Given the description of an element on the screen output the (x, y) to click on. 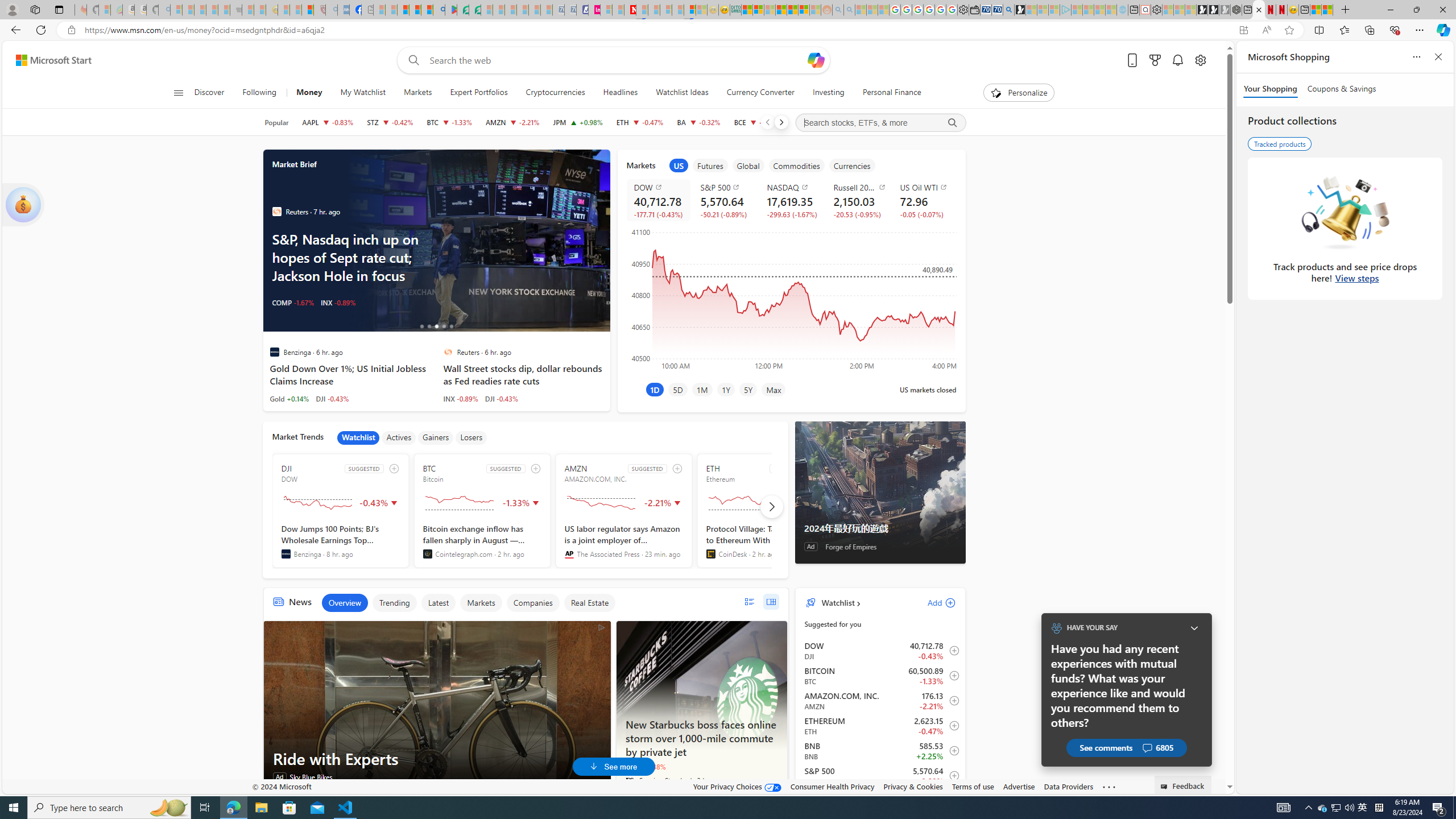
AAPL APPLE INC. decrease 224.53 -1.87 -0.83% (328, 122)
Microsoft Word - consumer-privacy address update 2.2021 (475, 9)
AdChoices (601, 626)
Privacy & Cookies (913, 786)
BTC SUGGESTED Bitcoin (481, 510)
Next (780, 122)
Utah sues federal government - Search - Sleeping (849, 9)
Cryptocurrencies (555, 92)
Investing (828, 92)
DJI SUGGESTED DOW (340, 510)
AdChoices (601, 627)
